Given the description of an element on the screen output the (x, y) to click on. 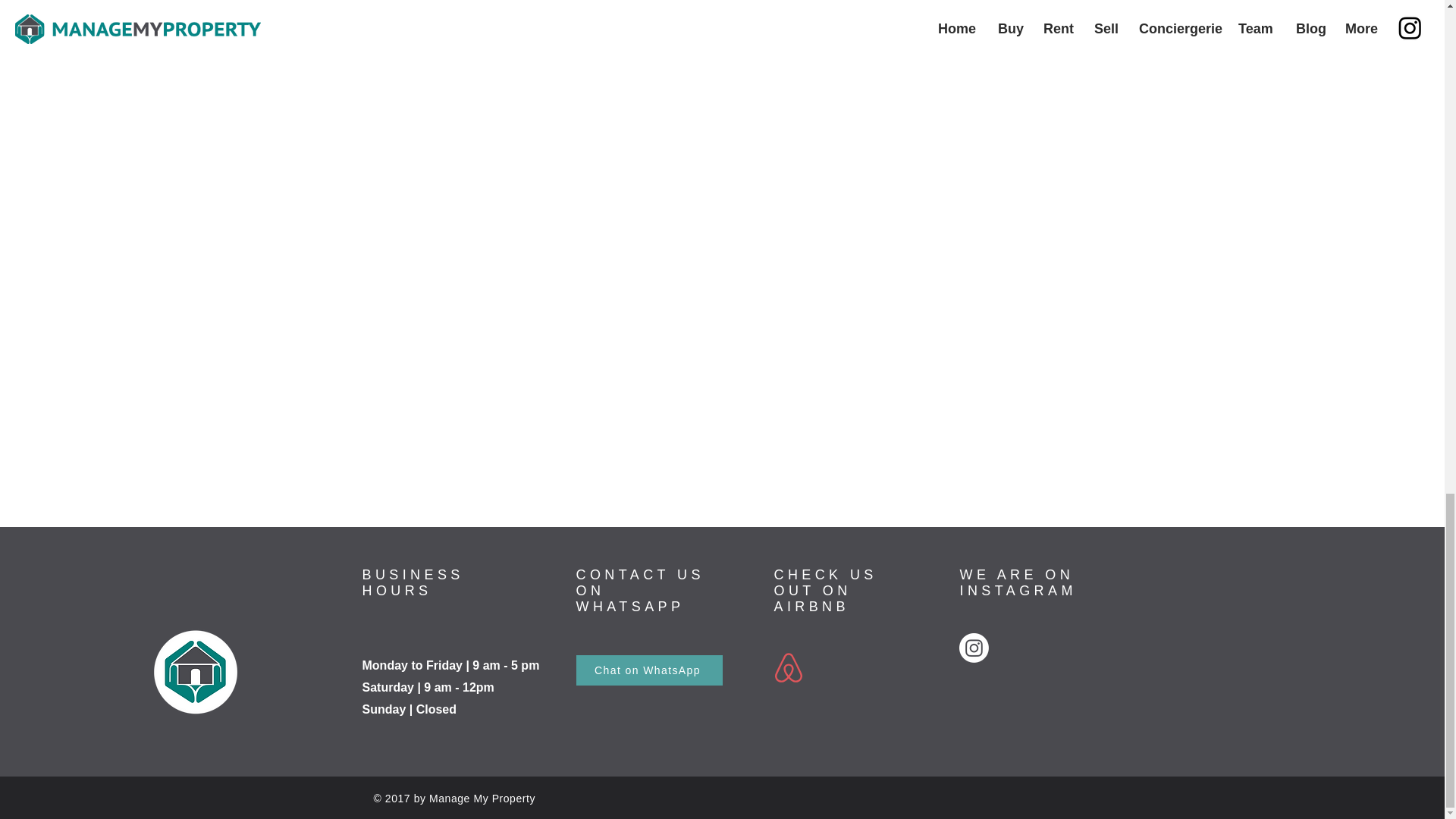
CHECK US OUT ON AIRBNB  (824, 590)
Chat on WhatsApp (649, 670)
bitmap.png (194, 671)
WE ARE ON INSTAGRAM (1018, 582)
